Given the description of an element on the screen output the (x, y) to click on. 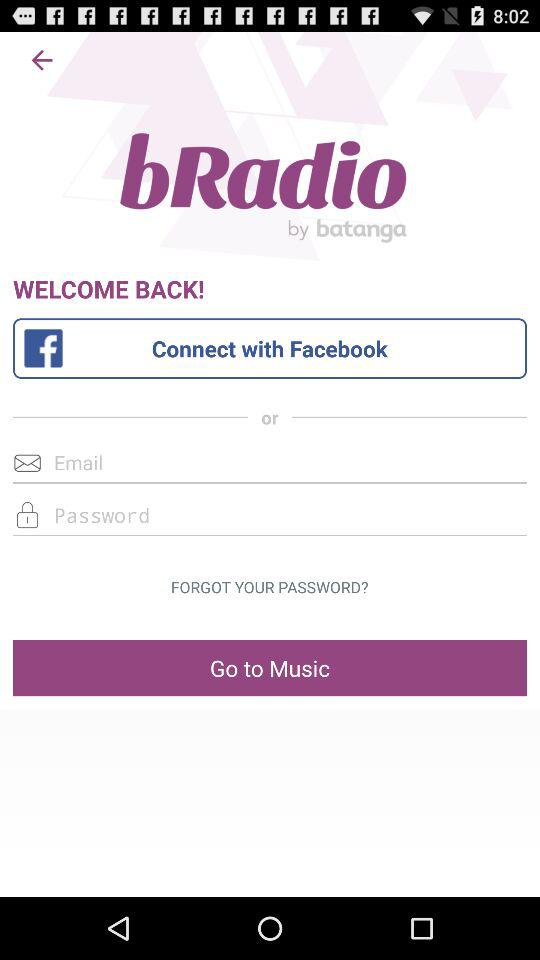
enter email address (269, 462)
